Given the description of an element on the screen output the (x, y) to click on. 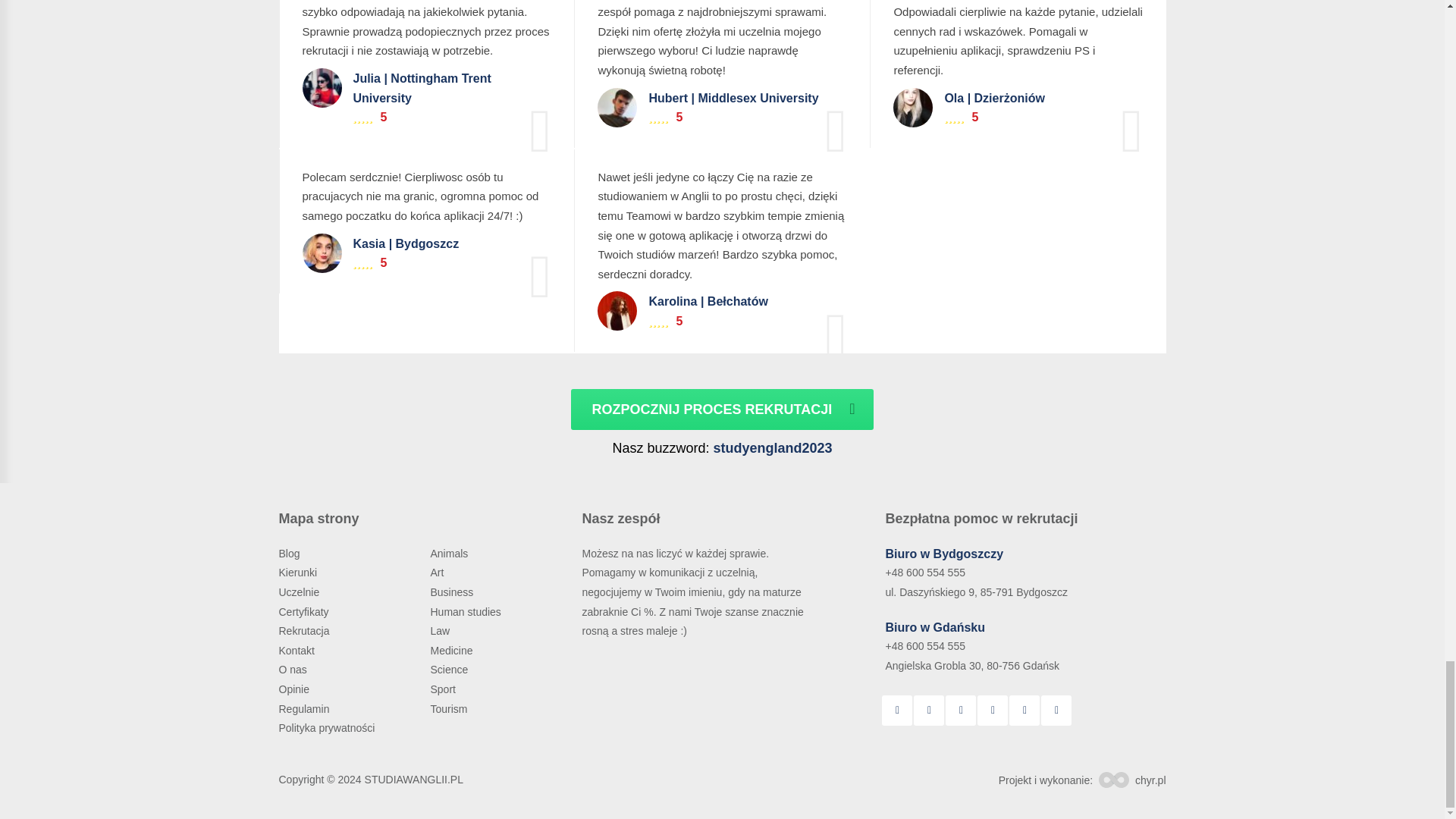
Rekrutacja (306, 630)
Kontakt (298, 650)
Animals (449, 553)
Human studies (466, 612)
Law (440, 630)
Certyfikaty (305, 612)
O nas (294, 669)
Kierunki (299, 572)
Regulamin (306, 708)
Uczelnie (300, 592)
